Given the description of an element on the screen output the (x, y) to click on. 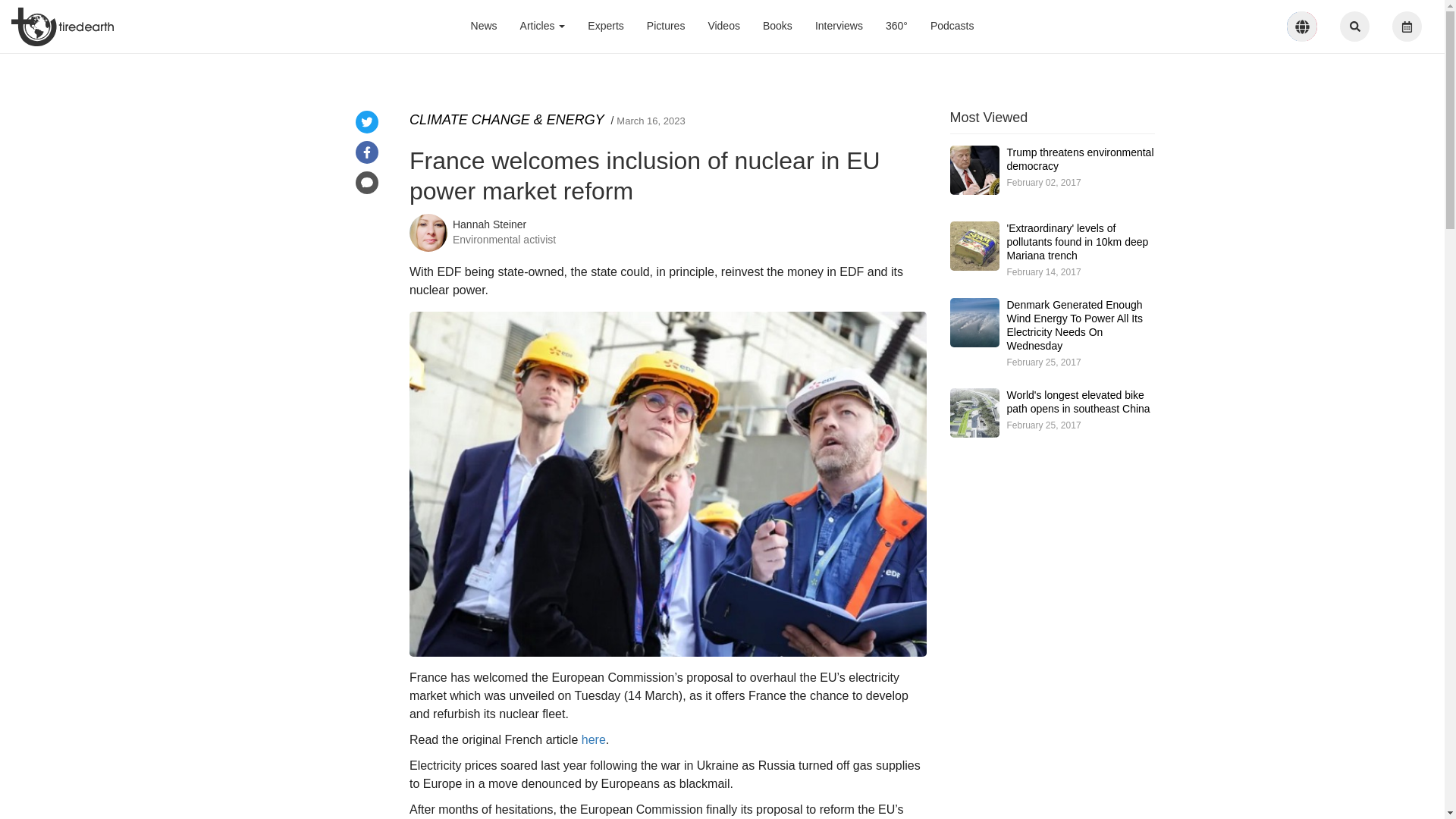
Articles (542, 25)
Tiredearth (62, 26)
Pictures (665, 25)
Experts (605, 25)
Videos (723, 25)
here (592, 739)
News (484, 25)
Interviews (839, 25)
Books (777, 25)
